Given the description of an element on the screen output the (x, y) to click on. 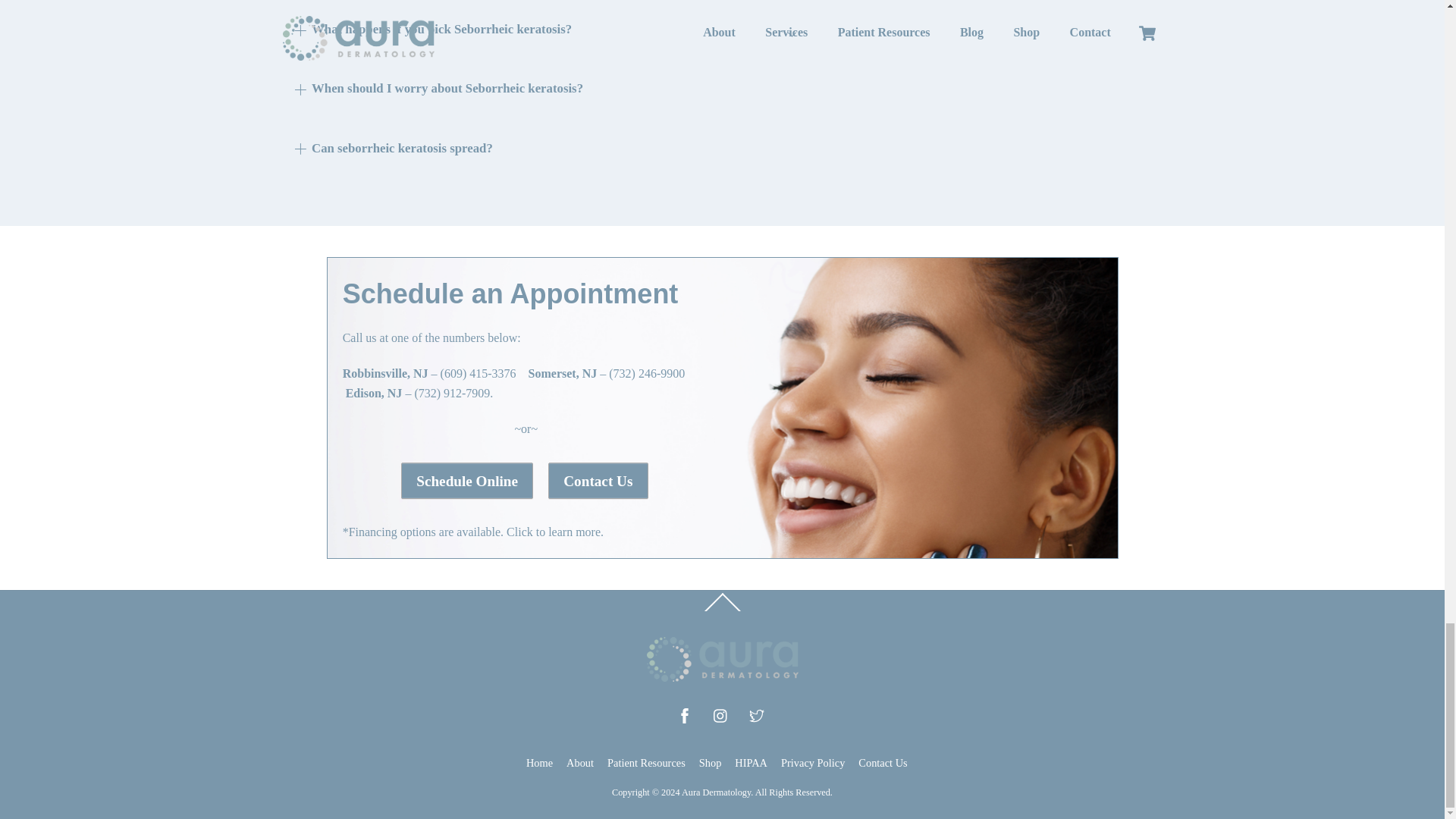
Patient Resources (646, 762)
Schedule Online (466, 480)
Aura Dermatology (721, 676)
Can seborrheic keratosis spread? (393, 147)
Home (539, 762)
Click to learn more (551, 531)
Contact Us (597, 480)
What happens if you pick Seborrheic keratosis? (433, 29)
When should I worry about Seborrheic keratosis? (438, 88)
About (580, 762)
